Given the description of an element on the screen output the (x, y) to click on. 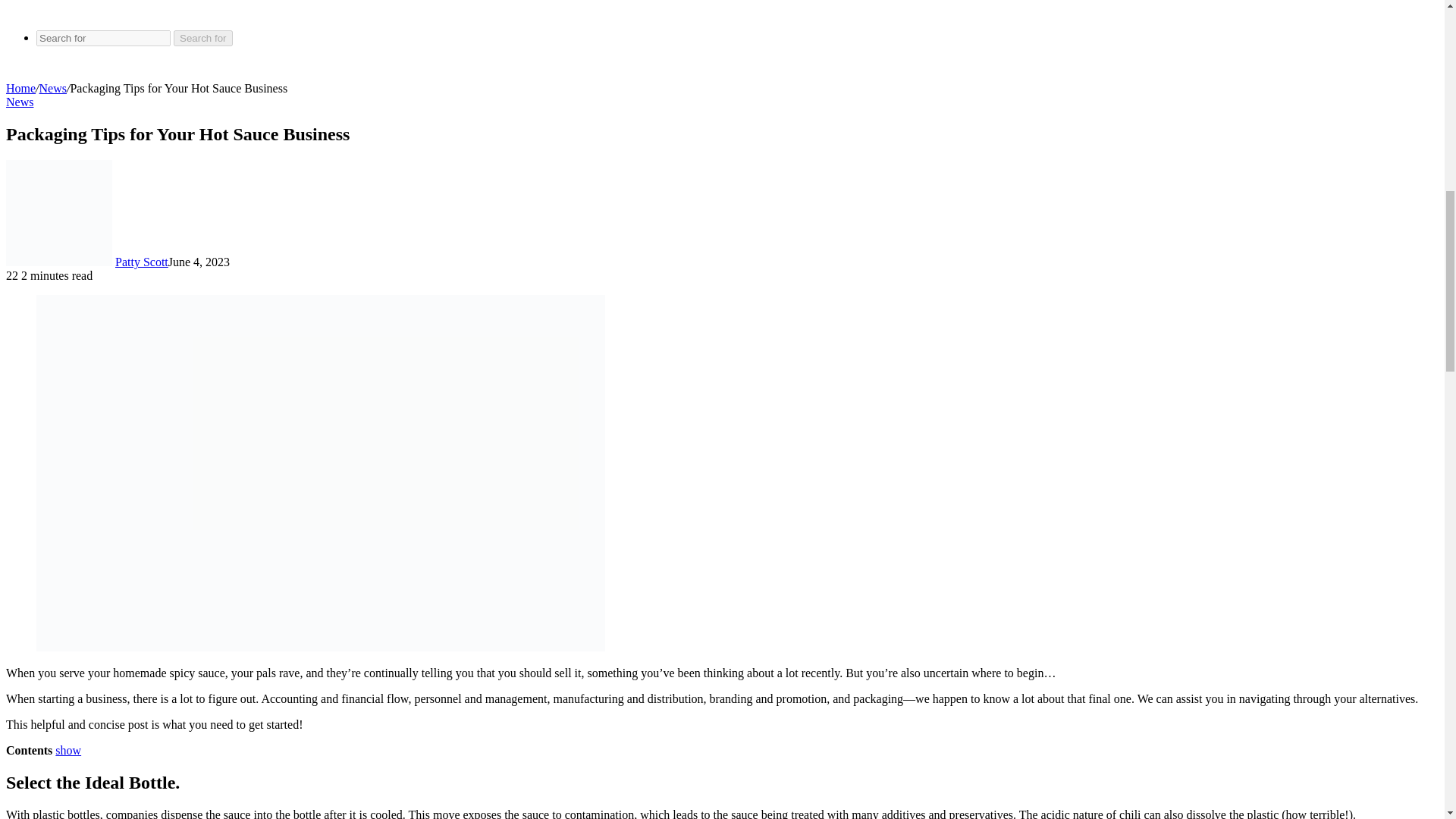
Patty Scott (141, 261)
Search for (103, 37)
show (68, 749)
Patty Scott (141, 261)
Search for (202, 37)
News (52, 88)
Home (19, 88)
News (19, 101)
